Given the description of an element on the screen output the (x, y) to click on. 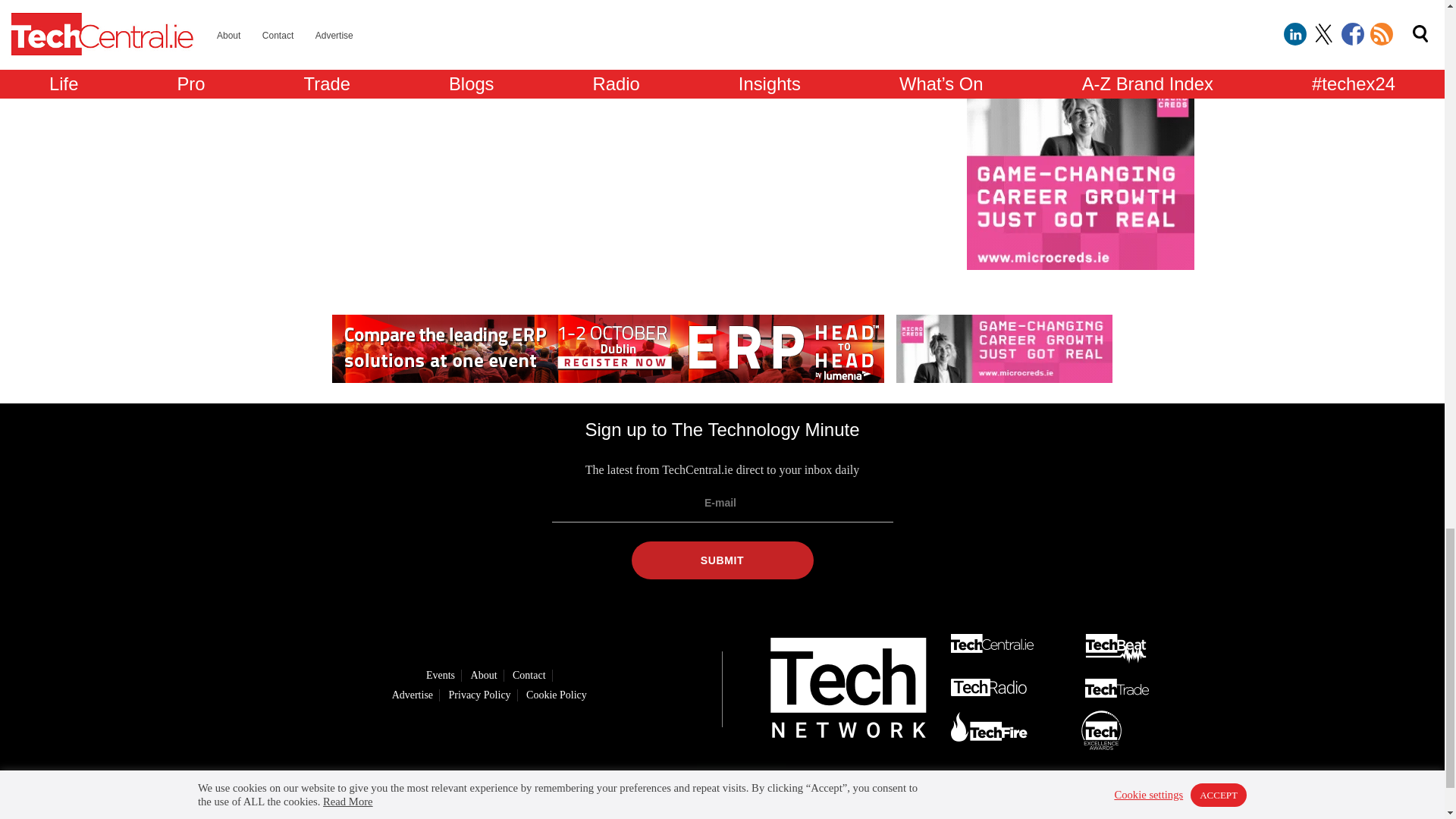
Submit (721, 560)
